Given the description of an element on the screen output the (x, y) to click on. 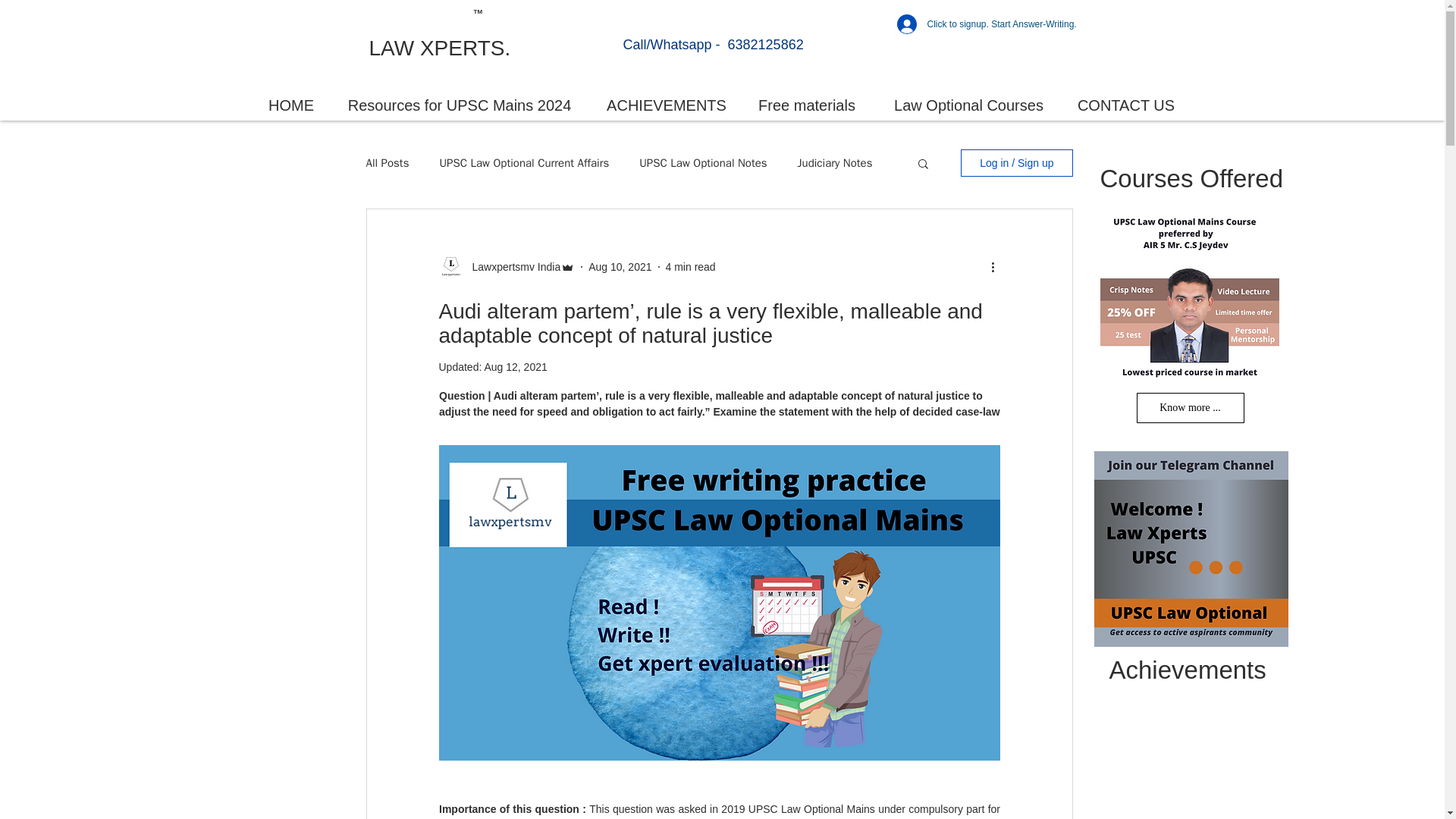
4 min read (690, 266)
Lawxpertsmv India (506, 266)
Resources for UPSC Mains 2024 (459, 105)
Click to signup. Start Answer-Writing. (983, 23)
All Posts (387, 163)
Aug 10, 2021 (619, 266)
CONTACT US (1126, 105)
ACHIEVEMENTS (665, 105)
UPSC Law Optional Notes (703, 163)
LAW XPERTS. (439, 47)
UPSC Law Optional Current Affairs (523, 163)
Law Optional Courses (968, 105)
Aug 12, 2021 (515, 367)
HOME (291, 105)
Free materials (806, 105)
